Given the description of an element on the screen output the (x, y) to click on. 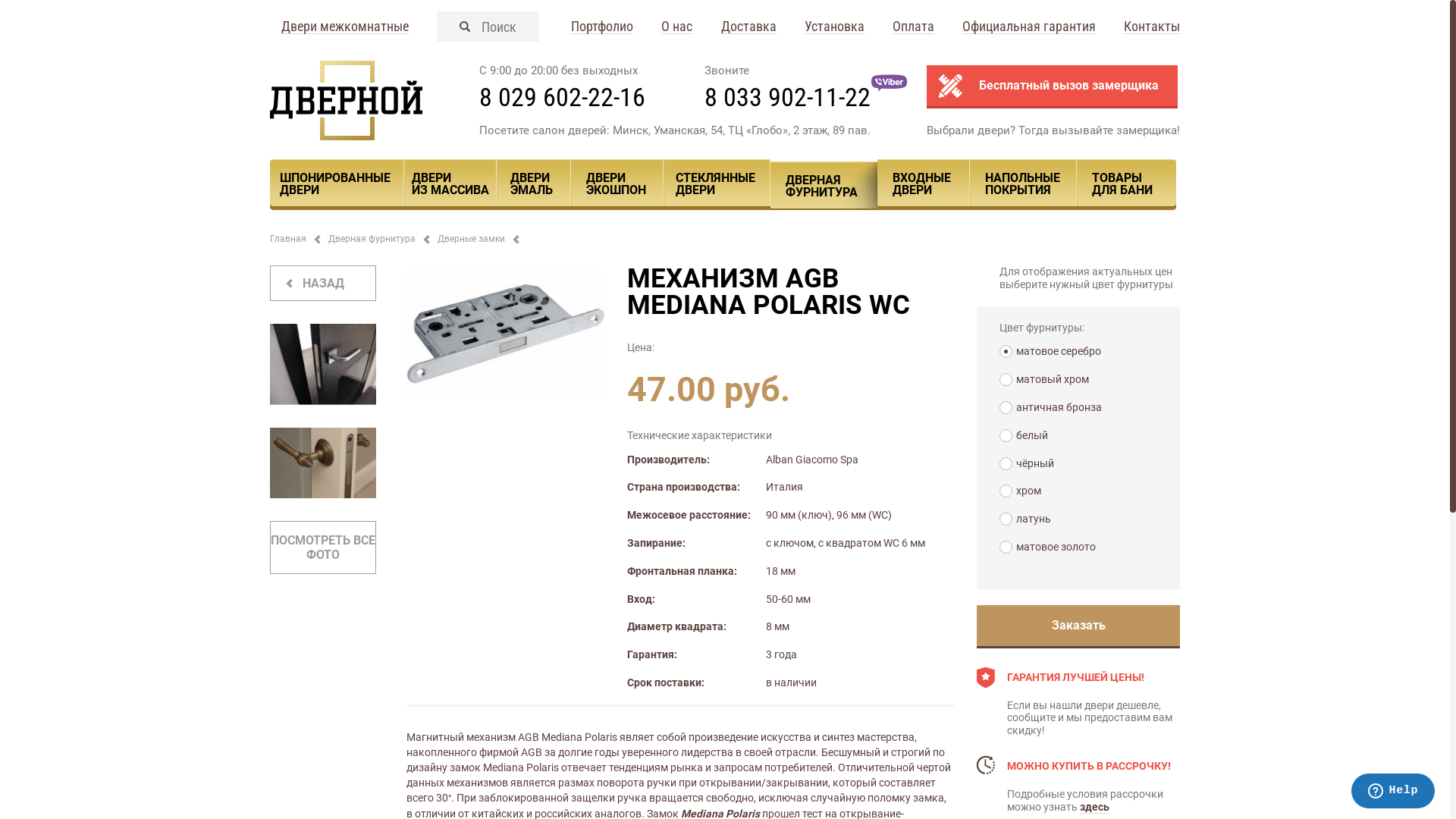
8 029 602-22-16 Element type: text (562, 96)
Opens a widget where you can chat to one of our agents Element type: hover (1392, 792)
8 033 902-11-22 Element type: text (786, 96)
AGB Polaris Element type: hover (505, 333)
